Given the description of an element on the screen output the (x, y) to click on. 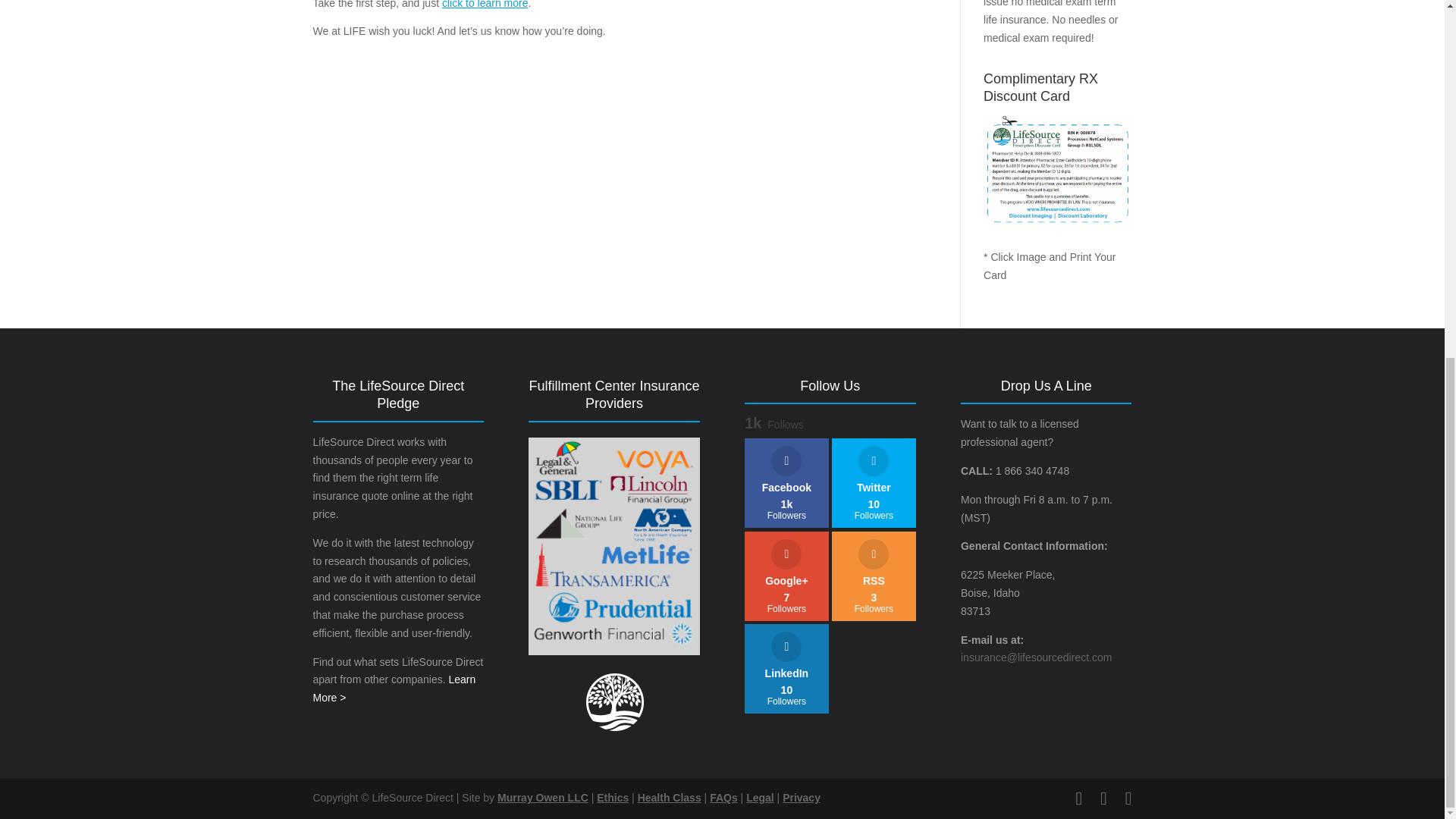
LifeSource Direct Life Insurance Logo (614, 701)
Print Your RX Discount Card (1057, 169)
